Given the description of an element on the screen output the (x, y) to click on. 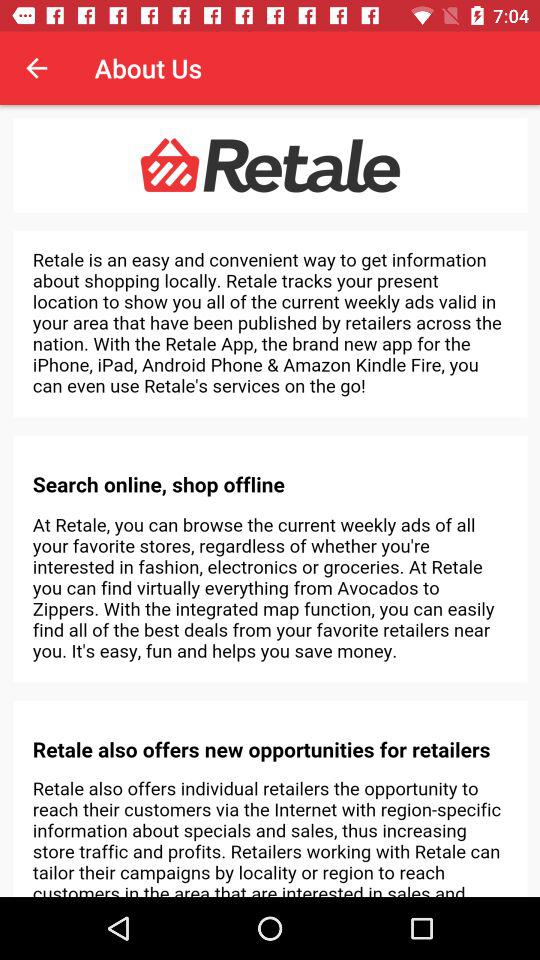
go to previous (36, 68)
